Given the description of an element on the screen output the (x, y) to click on. 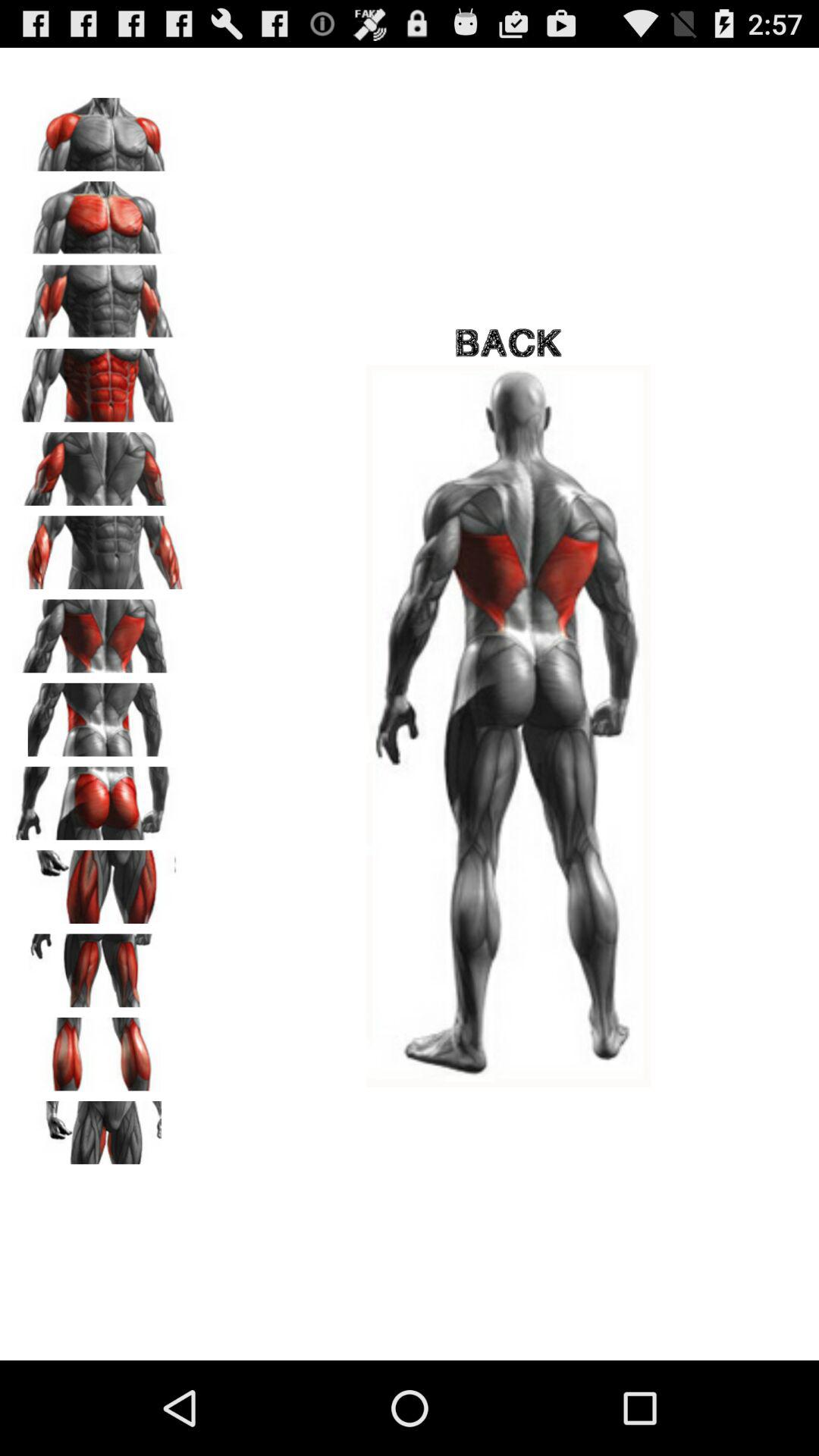
choose buttocks muscles (99, 798)
